Given the description of an element on the screen output the (x, y) to click on. 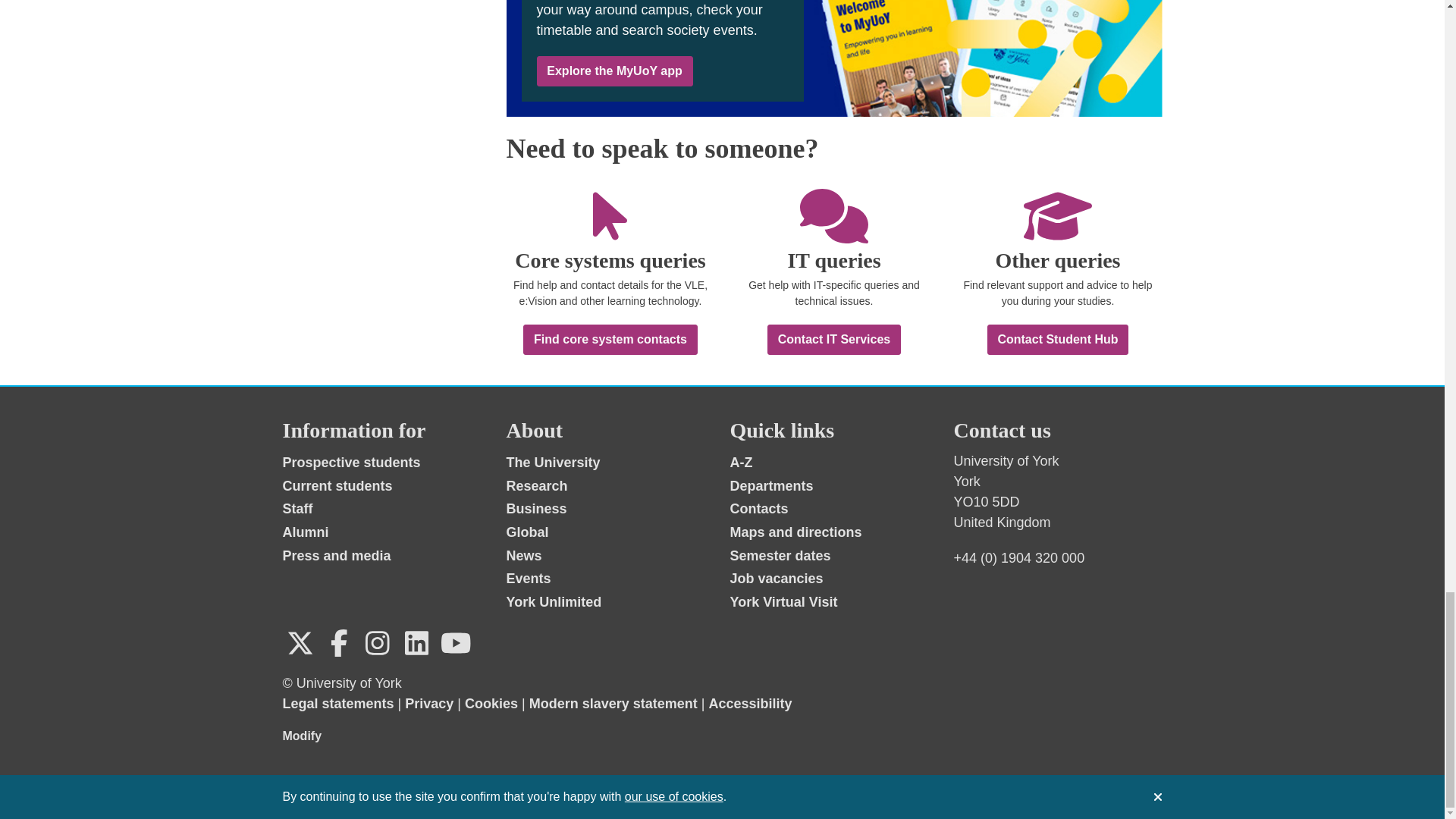
Follow us on X (299, 642)
Like us on Facebook (338, 642)
Follow us on LinkedIn (415, 642)
Follow us on Instagram (376, 642)
Watch our videos on YouTube (455, 642)
